Given the description of an element on the screen output the (x, y) to click on. 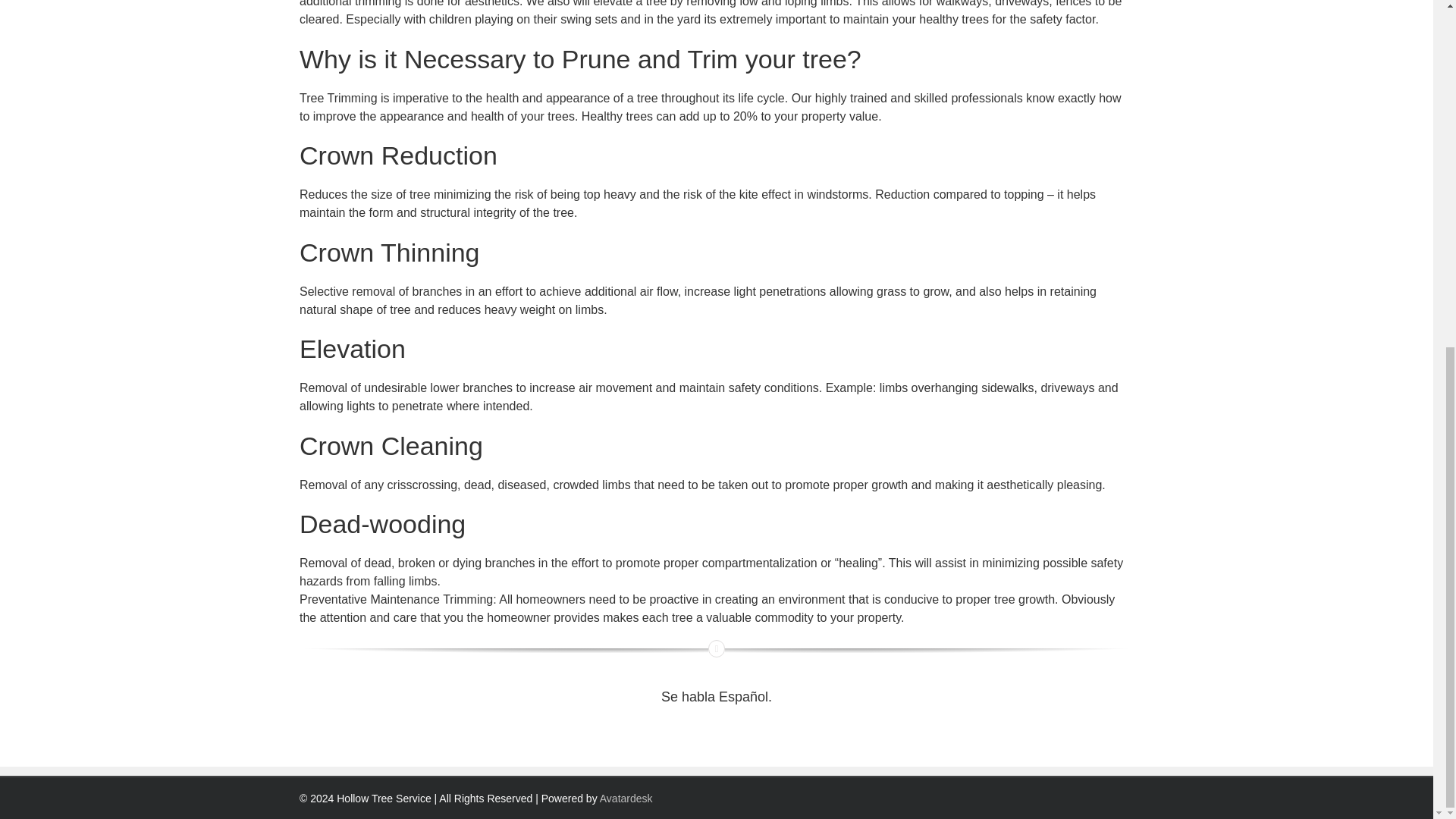
Avatardesk (625, 798)
